Given the description of an element on the screen output the (x, y) to click on. 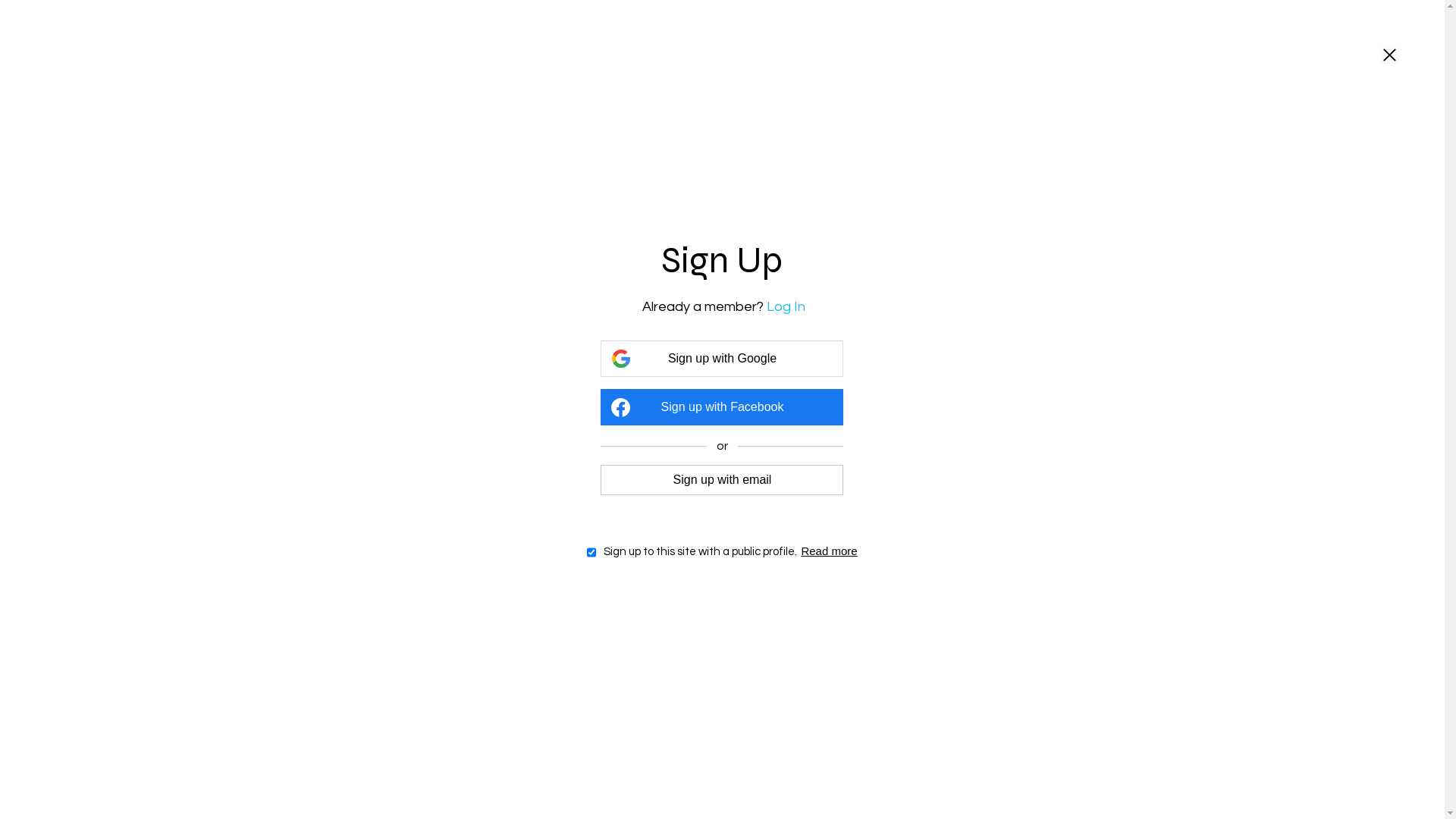
Sign up with email Element type: text (721, 479)
Sign up with Google Element type: text (721, 358)
Sign up with Facebook Element type: text (721, 407)
Read more Element type: text (828, 550)
Log In Element type: text (785, 306)
